Given the description of an element on the screen output the (x, y) to click on. 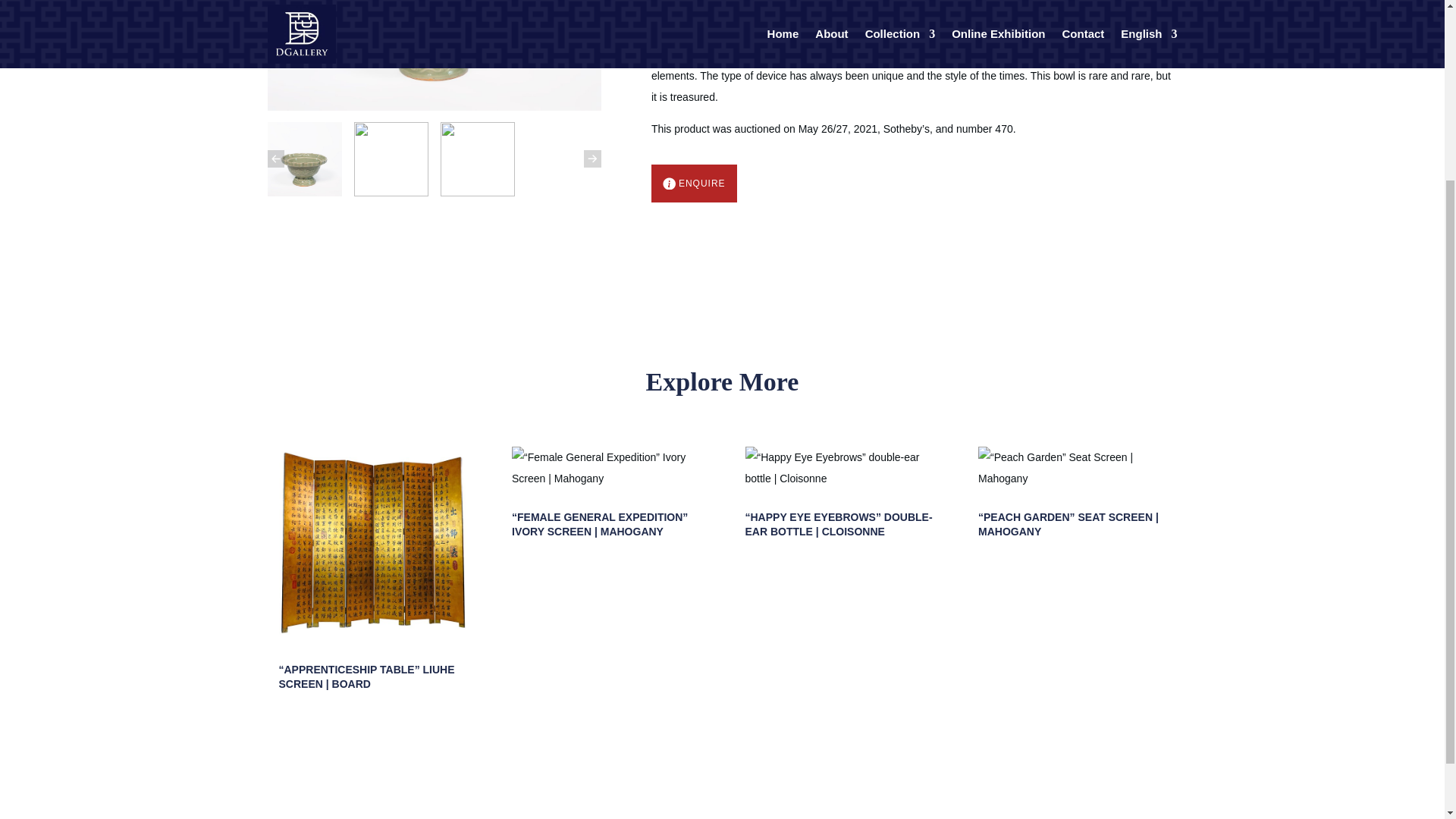
ENQUIRE (693, 183)
